Given the description of an element on the screen output the (x, y) to click on. 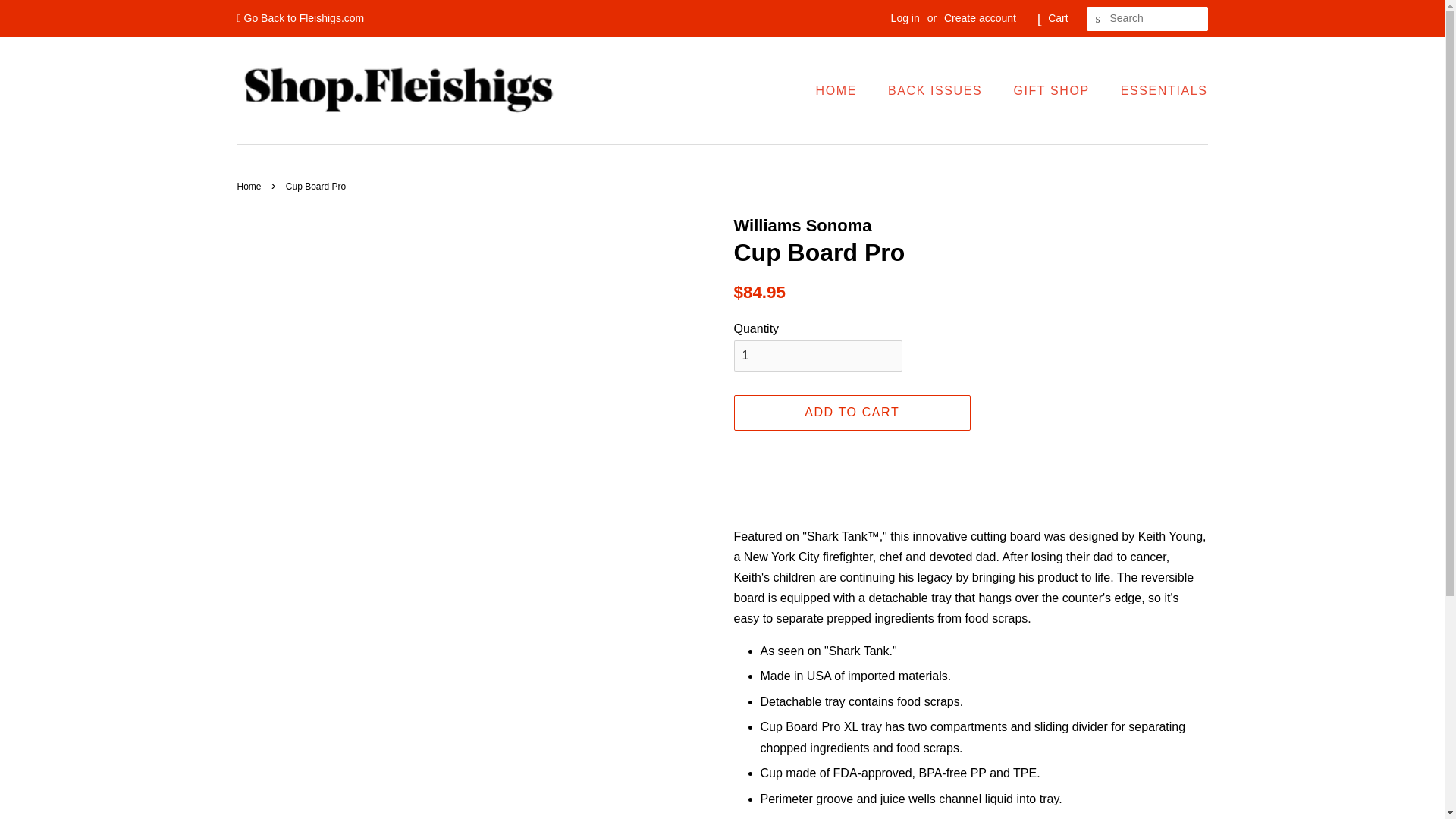
Back to the frontpage (249, 185)
Log in (905, 18)
1 (817, 355)
Home (249, 185)
ADD TO CART (852, 412)
GIFT SHOP (1052, 90)
Create account (979, 18)
ESSENTIALS (1158, 90)
BACK ISSUES (936, 90)
Cart (1057, 18)
HOME (843, 90)
SEARCH (1097, 18)
